Given the description of an element on the screen output the (x, y) to click on. 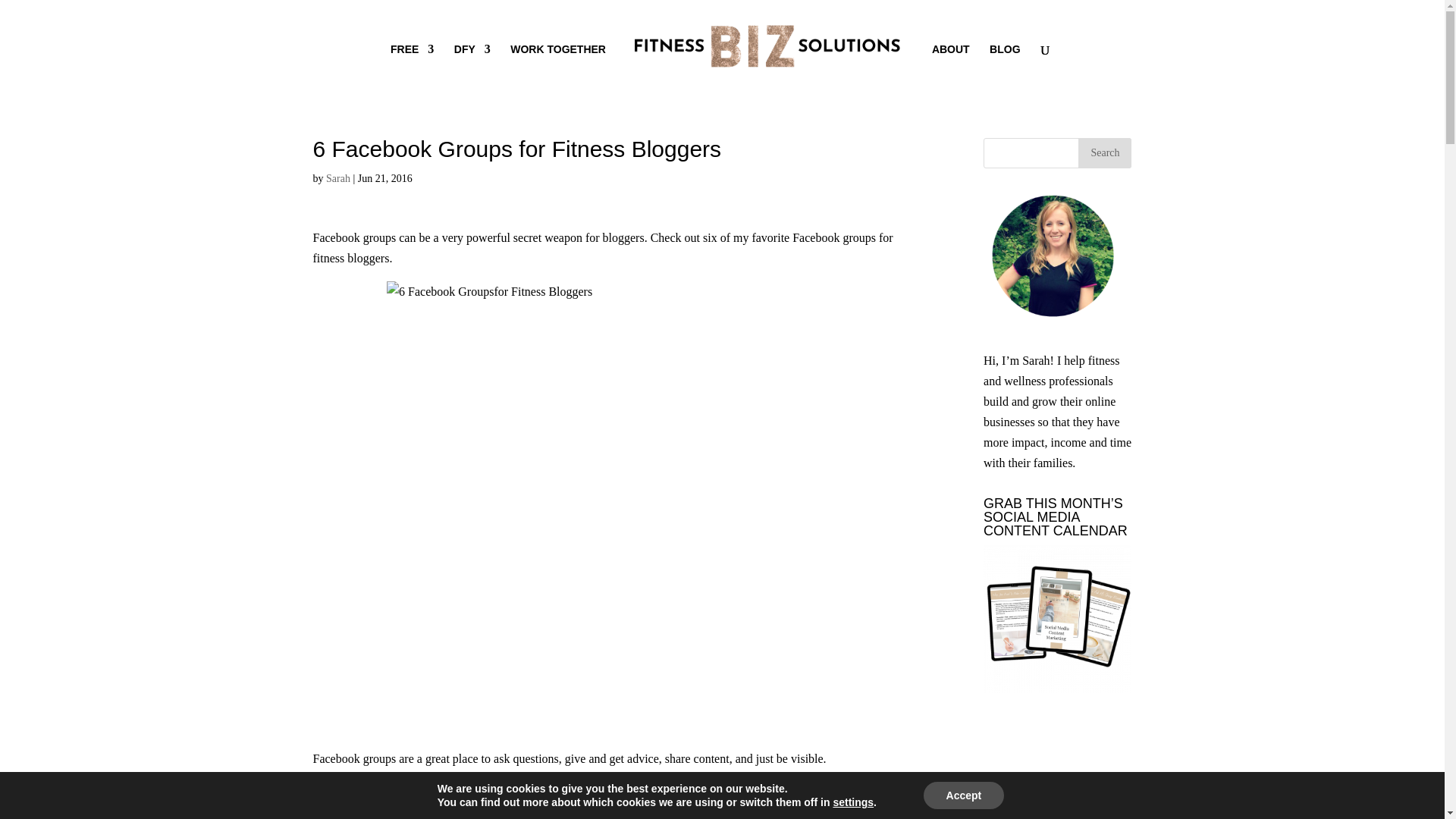
DFY (472, 69)
Posts by Sarah (338, 178)
Sarah (338, 178)
Search (1104, 153)
WORK TOGETHER (558, 69)
FREE (411, 69)
ABOUT (950, 69)
BLOG (1005, 69)
